Given the description of an element on the screen output the (x, y) to click on. 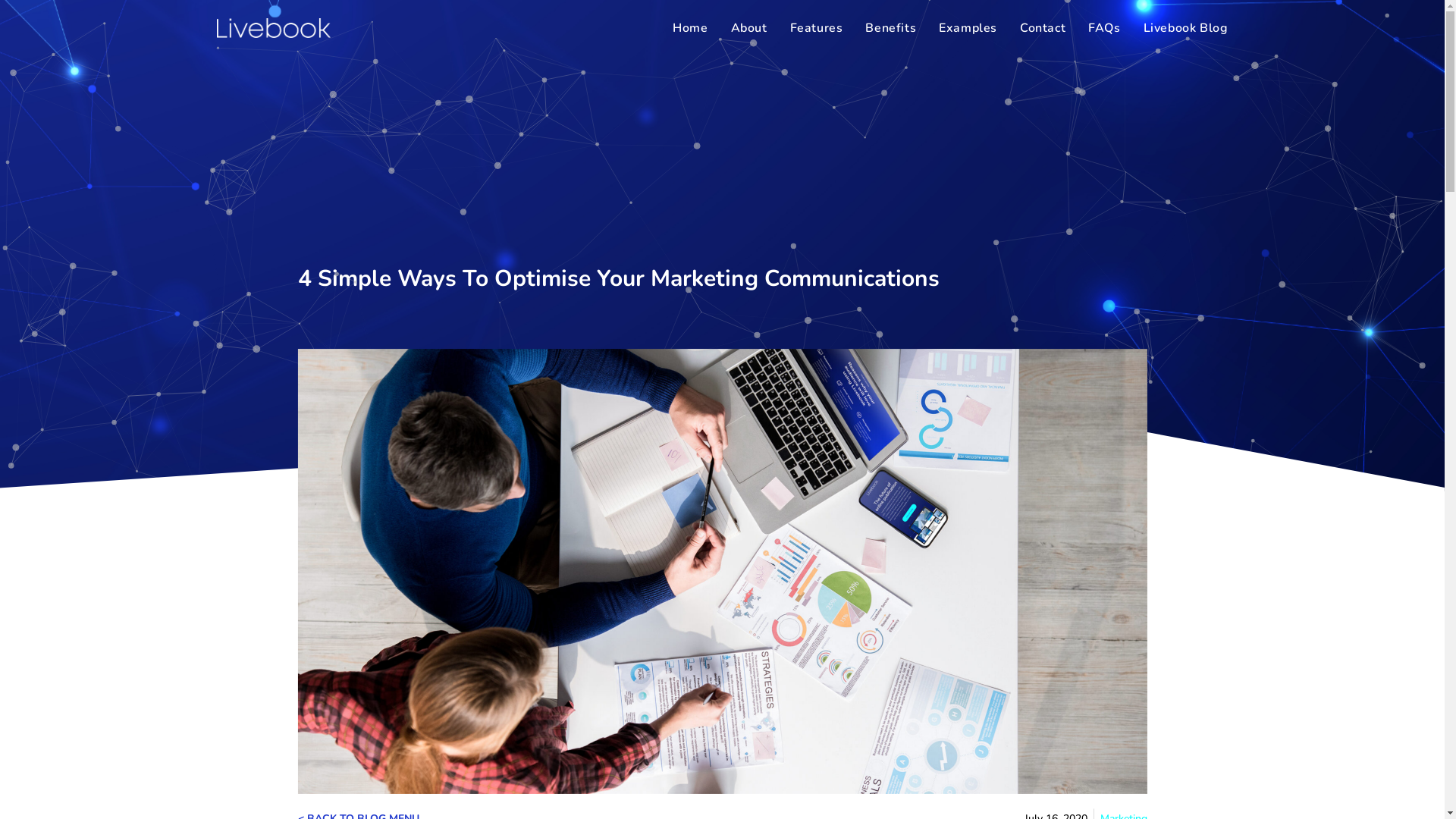
About Element type: text (748, 28)
Livebook Blog Element type: text (1185, 28)
Examples Element type: text (967, 28)
Benefits Element type: text (890, 28)
Home Element type: text (689, 28)
FAQs Element type: text (1103, 28)
Contact Element type: text (1042, 28)
Features Element type: text (816, 28)
